Given the description of an element on the screen output the (x, y) to click on. 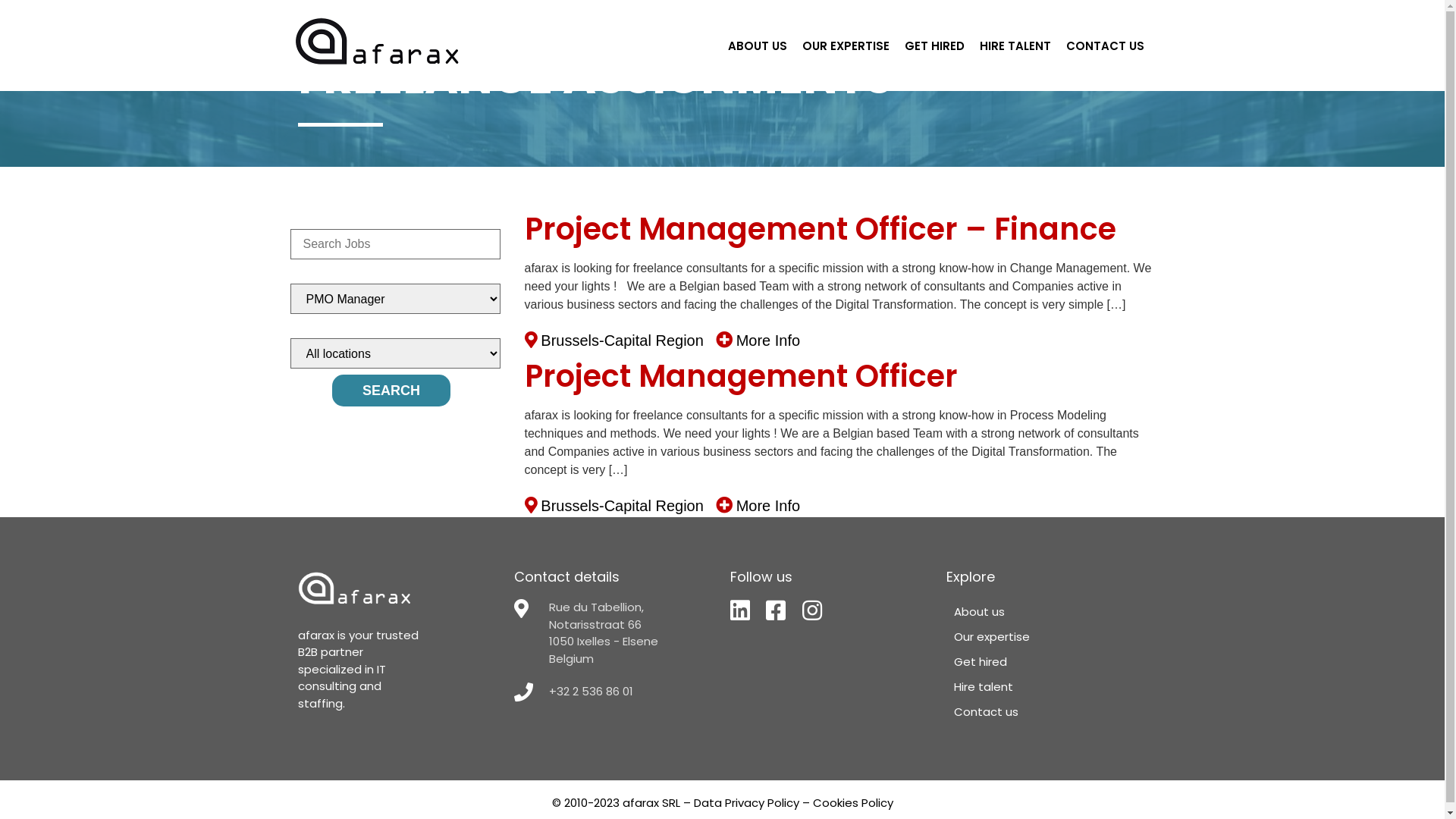
Brussels-Capital Region Element type: text (621, 340)
HIRE TALENT Element type: text (1015, 45)
More Info Element type: text (768, 505)
About us Element type: text (1042, 611)
+32 2 536 86 01 Element type: text (614, 691)
Cookies Policy Element type: text (852, 802)
OUR EXPERTISE Element type: text (845, 45)
More Info Element type: text (768, 340)
Data Privacy Policy Element type: text (745, 802)
GET HIRED Element type: text (934, 45)
Contact us Element type: text (1042, 711)
Hire talent Element type: text (1042, 686)
Get hired Element type: text (1042, 661)
Brussels-Capital Region Element type: text (621, 505)
Project Management Officer Element type: text (740, 375)
ABOUT US Element type: text (757, 45)
SEARCH Element type: text (391, 390)
CONTACT US Element type: text (1104, 45)
Our expertise Element type: text (1042, 636)
